Given the description of an element on the screen output the (x, y) to click on. 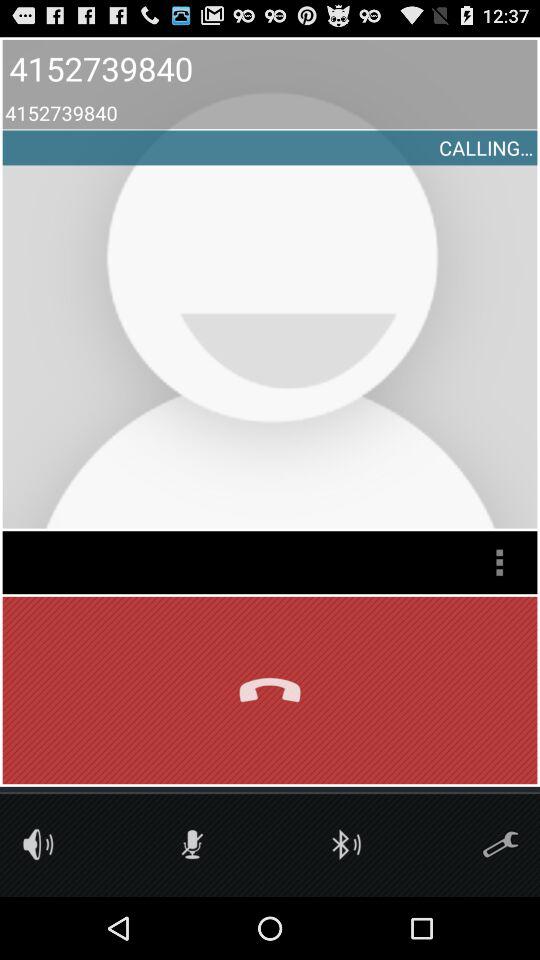
bluetooth option (346, 844)
